Given the description of an element on the screen output the (x, y) to click on. 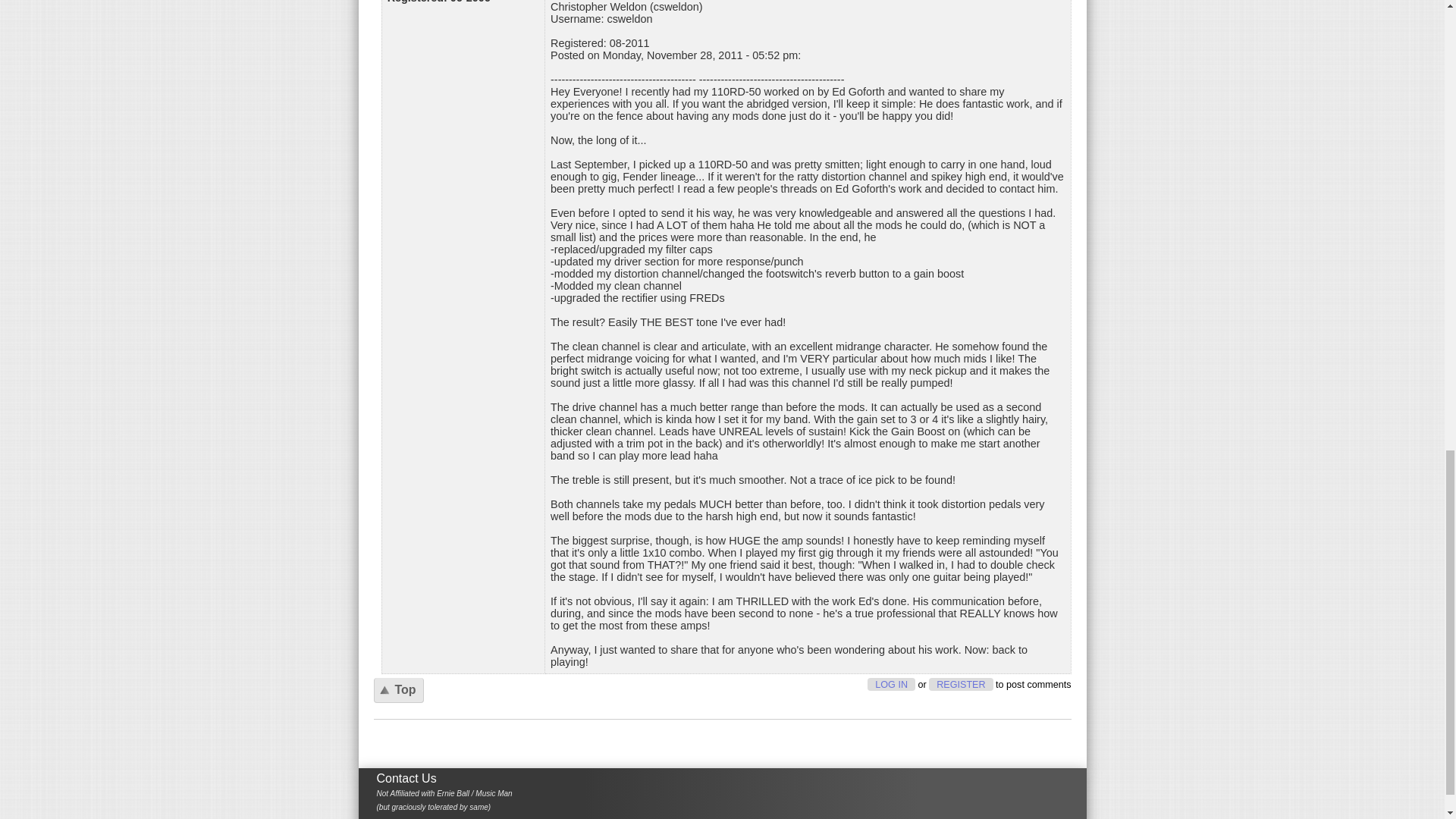
Contact Us (405, 778)
LOG IN (891, 684)
REGISTER (960, 684)
Top (397, 690)
Jump to top of page (397, 690)
